Given the description of an element on the screen output the (x, y) to click on. 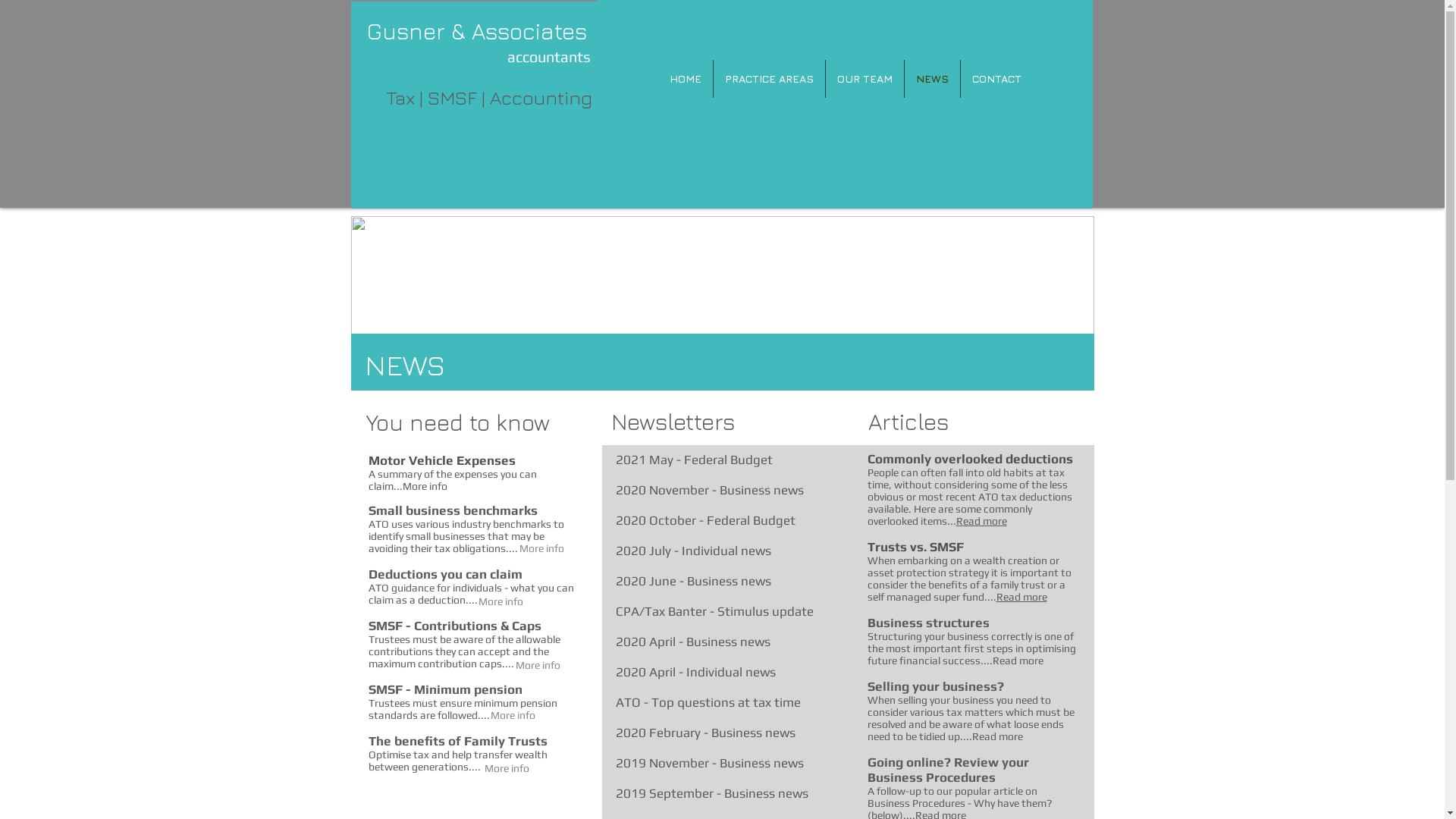
2021 May - Federal Budget Element type: text (693, 459)
2020 April - Individual news Element type: text (695, 671)
More info Element type: text (423, 486)
Read more Element type: text (1021, 596)
Read more Element type: text (1016, 660)
More info Element type: text (506, 768)
ATO - Top questions at tax time Element type: text (707, 701)
2020 April - Business news Element type: text (692, 641)
2020 February - Business news Element type: text (705, 732)
More info Element type: text (541, 548)
CONTACT Element type: text (996, 78)
2020 June - Business news Element type: text (693, 580)
2019 September - Business news Element type: text (711, 792)
More info Element type: text (512, 714)
2020 July - Individual news Element type: text (693, 550)
2020 October - Federal Budget Element type: text (705, 519)
CPA/Tax Banter - Stimulus update Element type: text (714, 610)
PRACTICE AREAS Element type: text (768, 78)
More info Element type: text (536, 664)
Read more Element type: text (997, 736)
NEWS Element type: text (931, 78)
2019 November - Business news Element type: text (709, 762)
2020 November - Business news Element type: text (709, 489)
Read more Element type: text (980, 520)
More info Element type: text (500, 601)
HOME Element type: text (685, 78)
OUR TEAM Element type: text (864, 78)
